Given the description of an element on the screen output the (x, y) to click on. 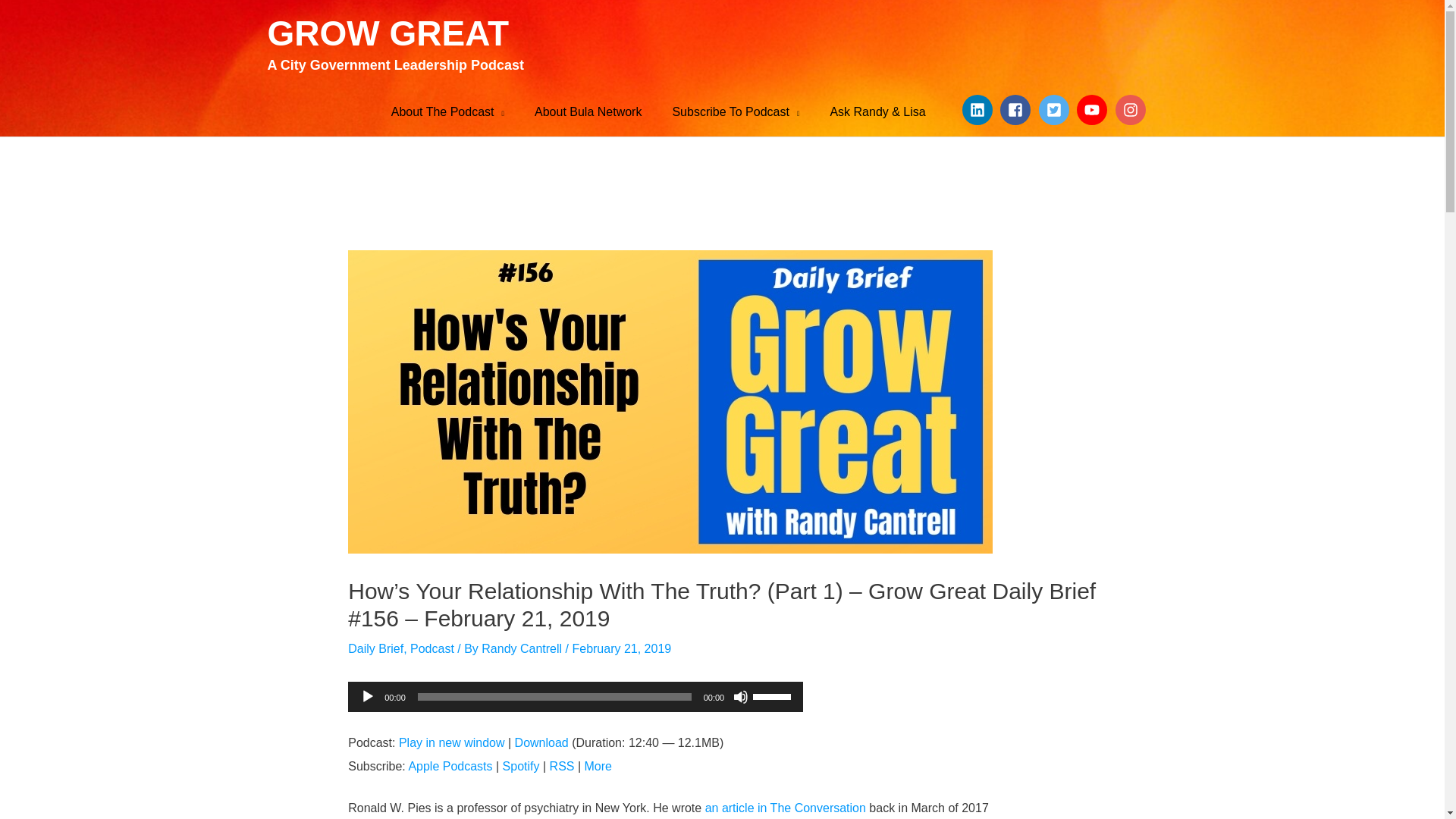
GROW GREAT (387, 33)
Podcast (432, 648)
Apple Podcasts (449, 766)
Randy Cantrell (522, 648)
an article in The Conversation (785, 807)
View all posts by Randy Cantrell (522, 648)
Daily Brief (375, 648)
Subscribe To Podcast (734, 111)
RSS (562, 766)
Download (542, 742)
Play (367, 696)
Subscribe on Spotify (521, 766)
About Bula Network (587, 111)
Play in new window (451, 742)
More (598, 766)
